Given the description of an element on the screen output the (x, y) to click on. 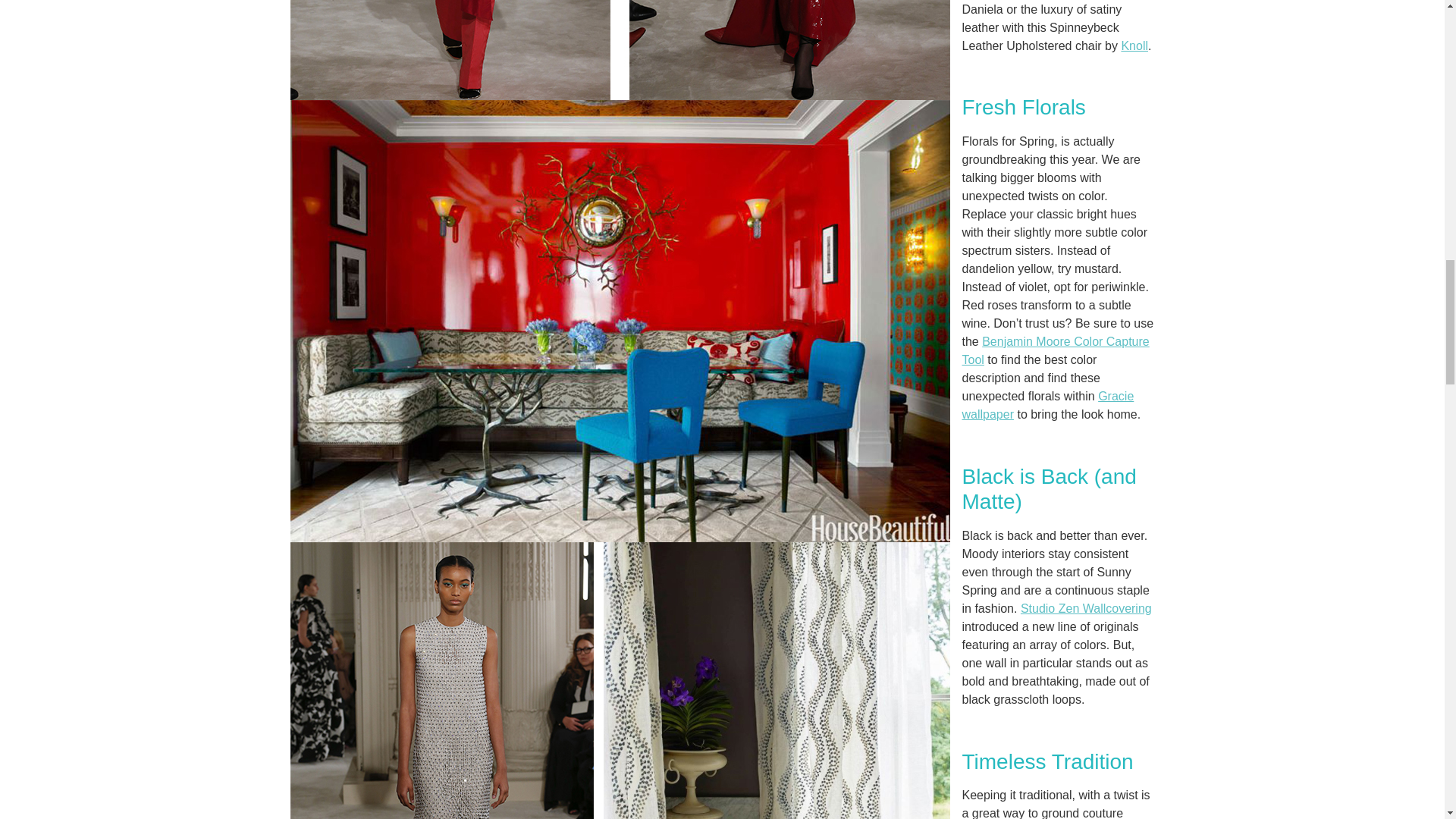
Gracie wallpaper (1047, 404)
Knoll (1134, 45)
Benjamin Moore Color Capture Tool (1054, 350)
Studio Zen Wallcovering (1085, 608)
